Given the description of an element on the screen output the (x, y) to click on. 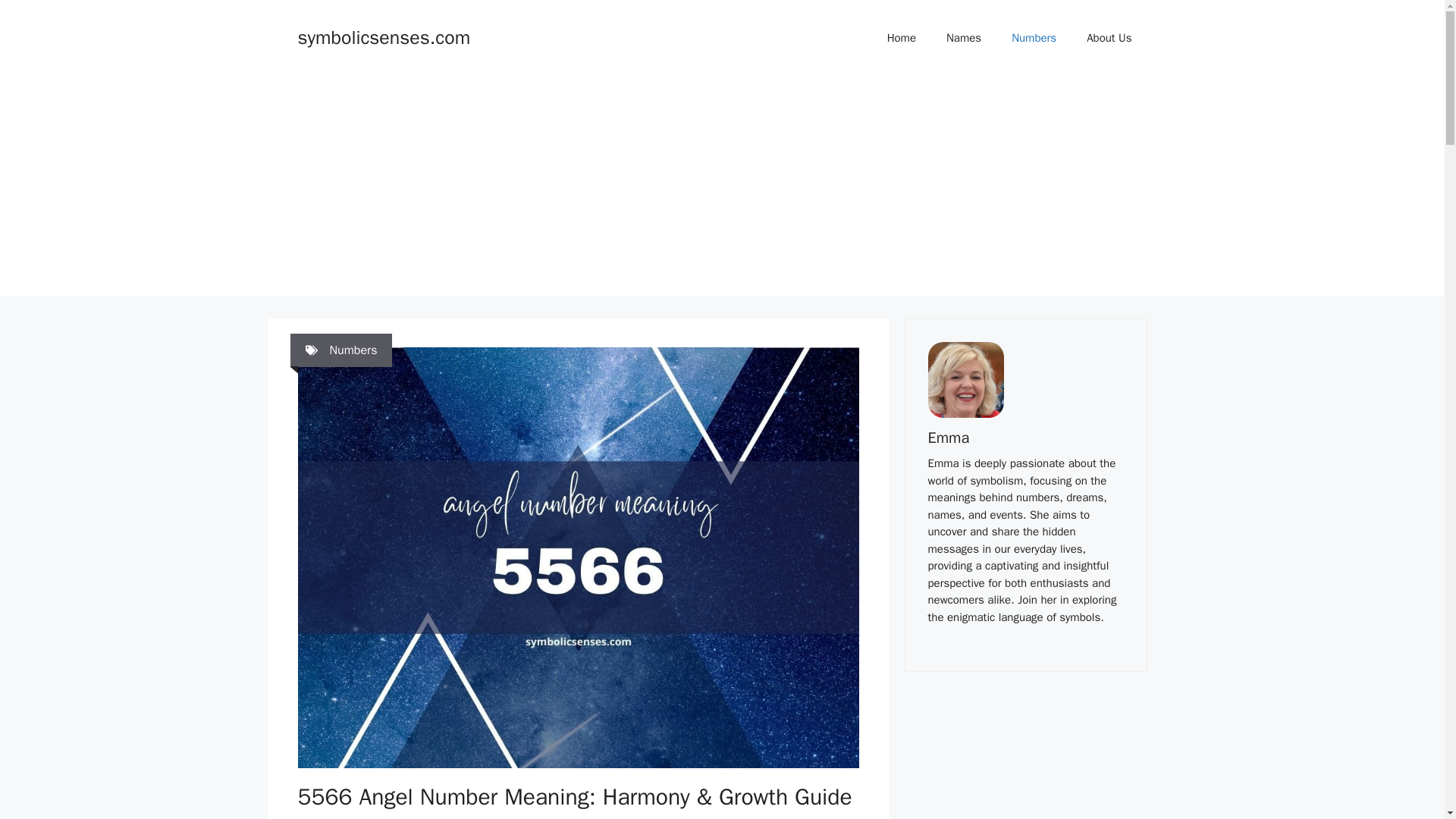
emma (966, 379)
Advertisement (1025, 760)
symbolicsenses.com (383, 37)
Numbers (1033, 37)
Names (963, 37)
About Us (1109, 37)
Numbers (353, 350)
Home (901, 37)
